Given the description of an element on the screen output the (x, y) to click on. 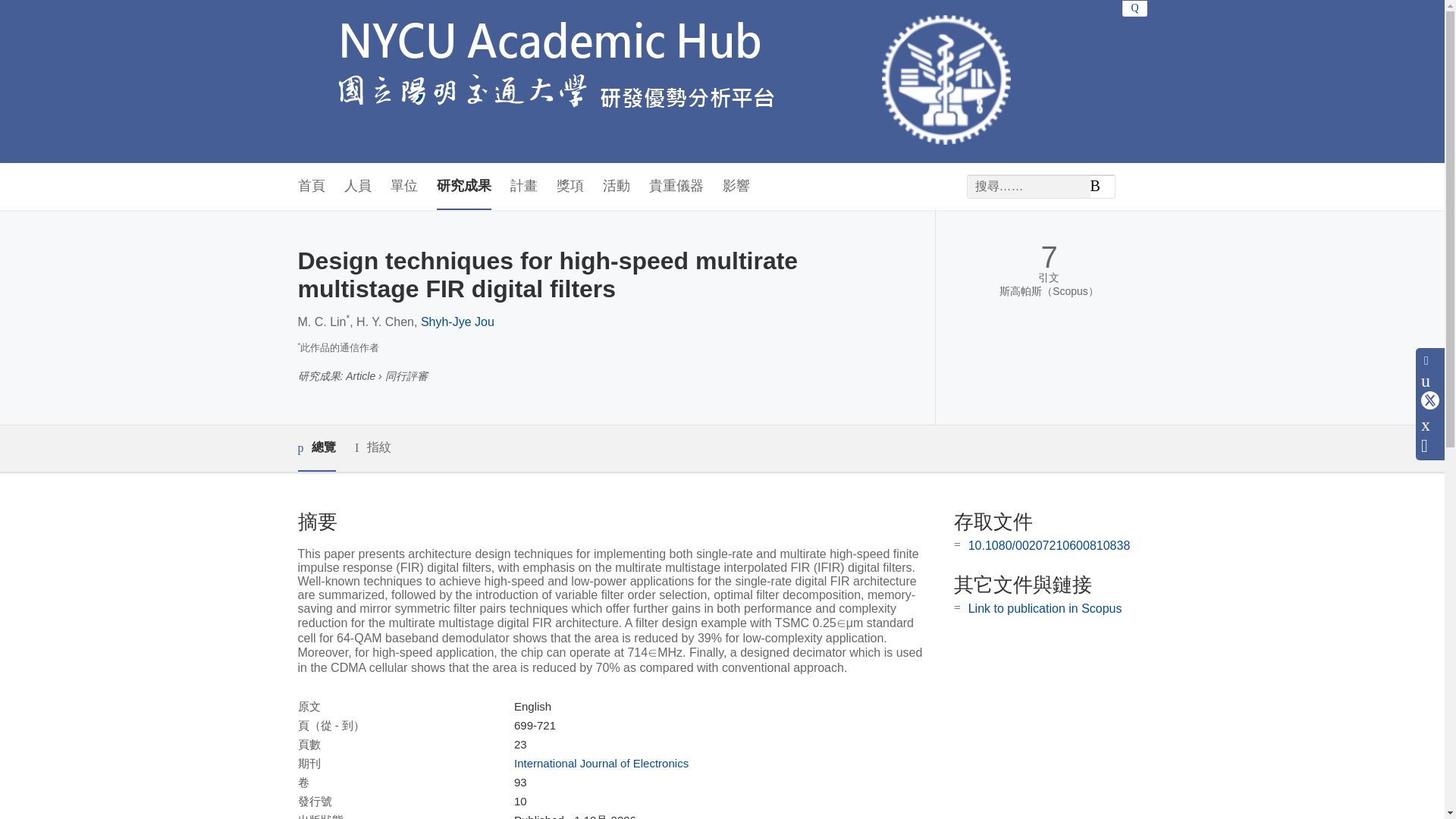
Shyh-Jye Jou (457, 321)
International Journal of Electronics (600, 762)
Link to publication in Scopus (1045, 608)
